Given the description of an element on the screen output the (x, y) to click on. 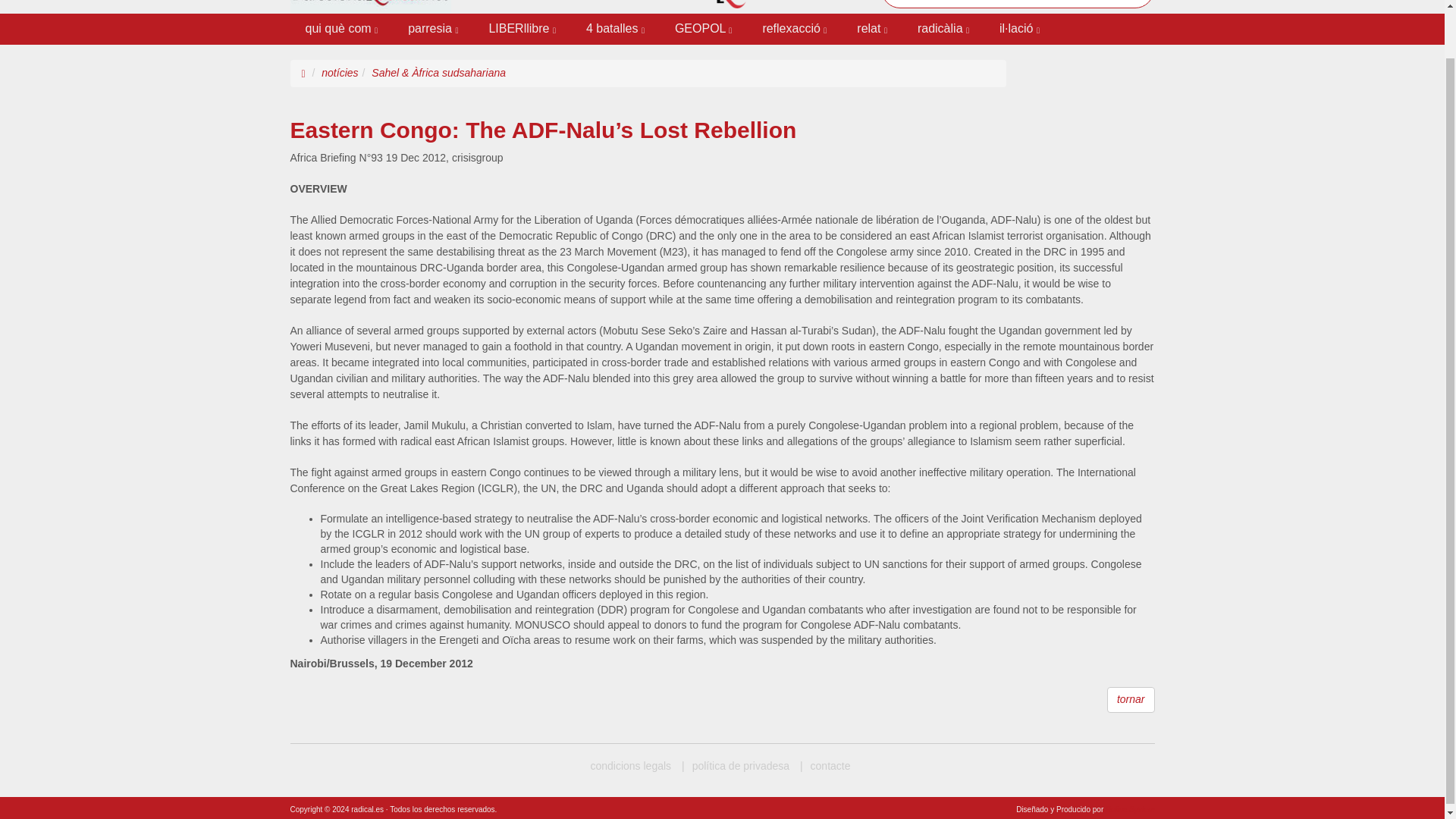
parresia (433, 29)
relat (871, 29)
contacto (824, 766)
4 batalles (614, 29)
GEOPOL (702, 29)
cercar a BarcelonaRadical.net (1017, 4)
BARCELONA RADICAL (630, 766)
LIBERllibre (521, 29)
